Given the description of an element on the screen output the (x, y) to click on. 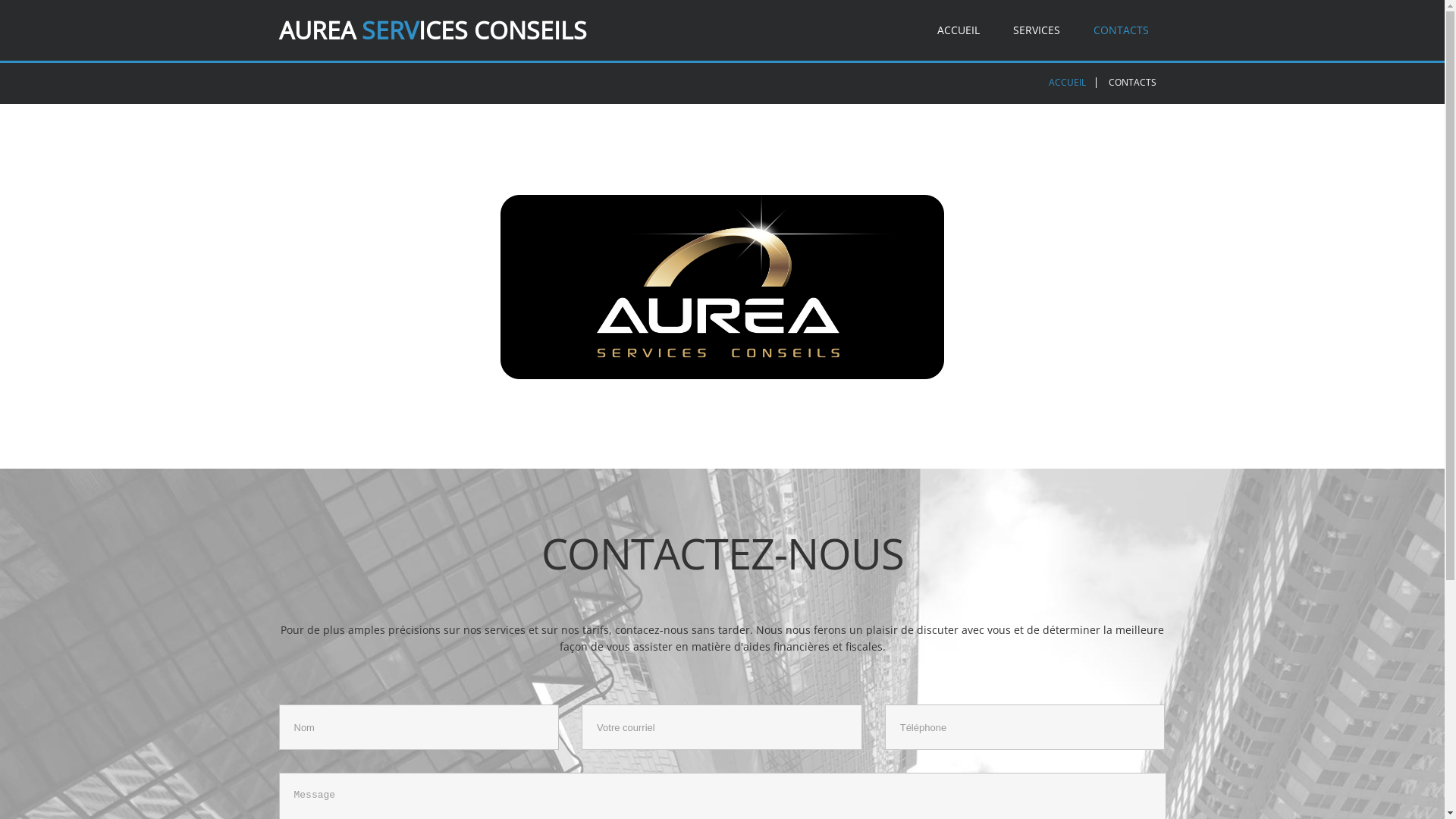
ACCUEIL Element type: text (1066, 81)
A U R E A   S E R V I C E S   C O N S E I L S Element type: text (419, 30)
CONTACTS Element type: text (1121, 30)
SERVICES Element type: text (1036, 30)
ACCUEIL Element type: text (958, 30)
